Given the description of an element on the screen output the (x, y) to click on. 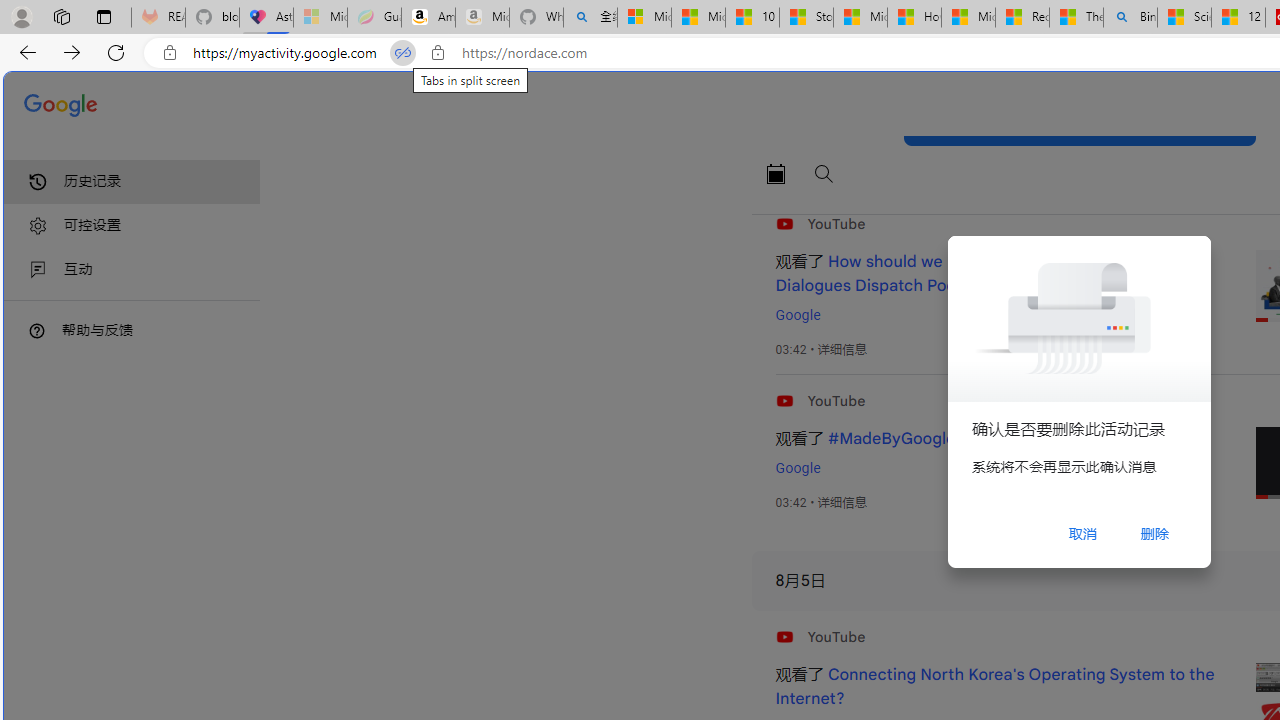
Tabs in split screen (403, 53)
Class: i2GIId (38, 269)
Connecting North Korea's Operating System to the Internet? (994, 687)
Class: DTiKkd NMm5M (37, 330)
